Given the description of an element on the screen output the (x, y) to click on. 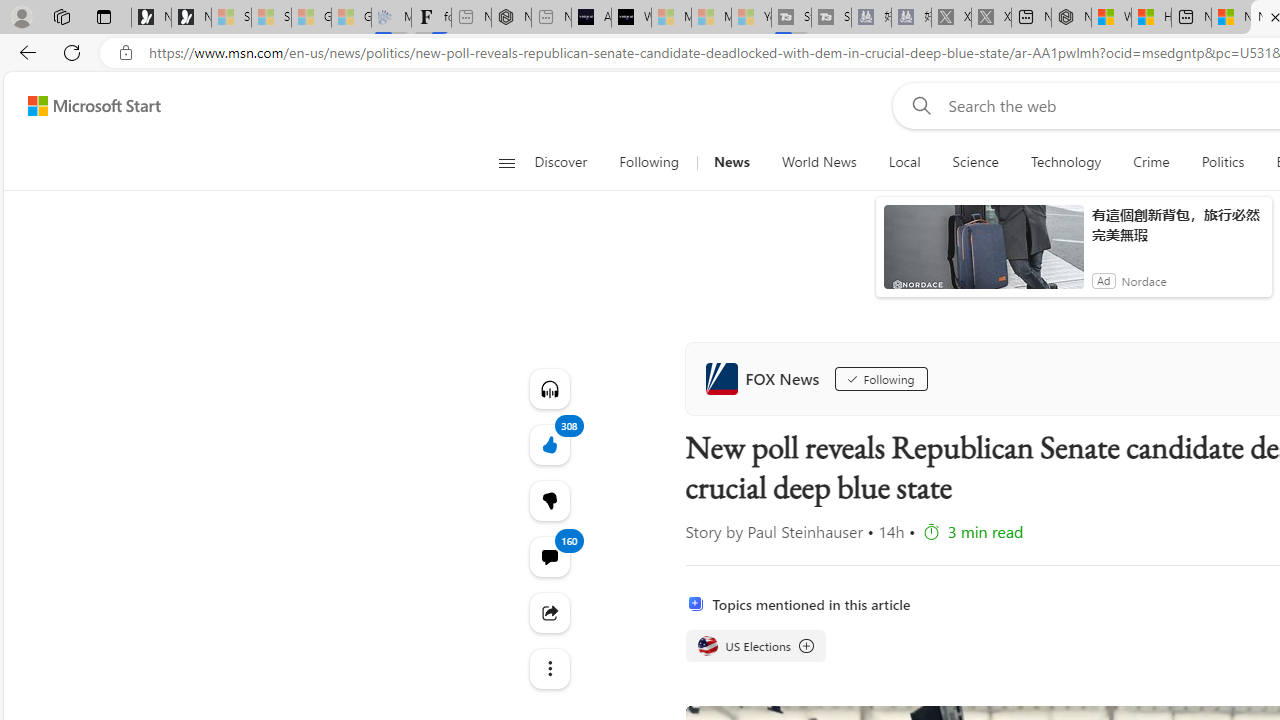
Streaming Coverage | T3 - Sleeping (791, 17)
308 Like (548, 444)
World News (818, 162)
Listen to this article (548, 388)
Crime (1151, 162)
US Elections (754, 645)
Newsletter Sign Up (191, 17)
Politics (1222, 162)
